Given the description of an element on the screen output the (x, y) to click on. 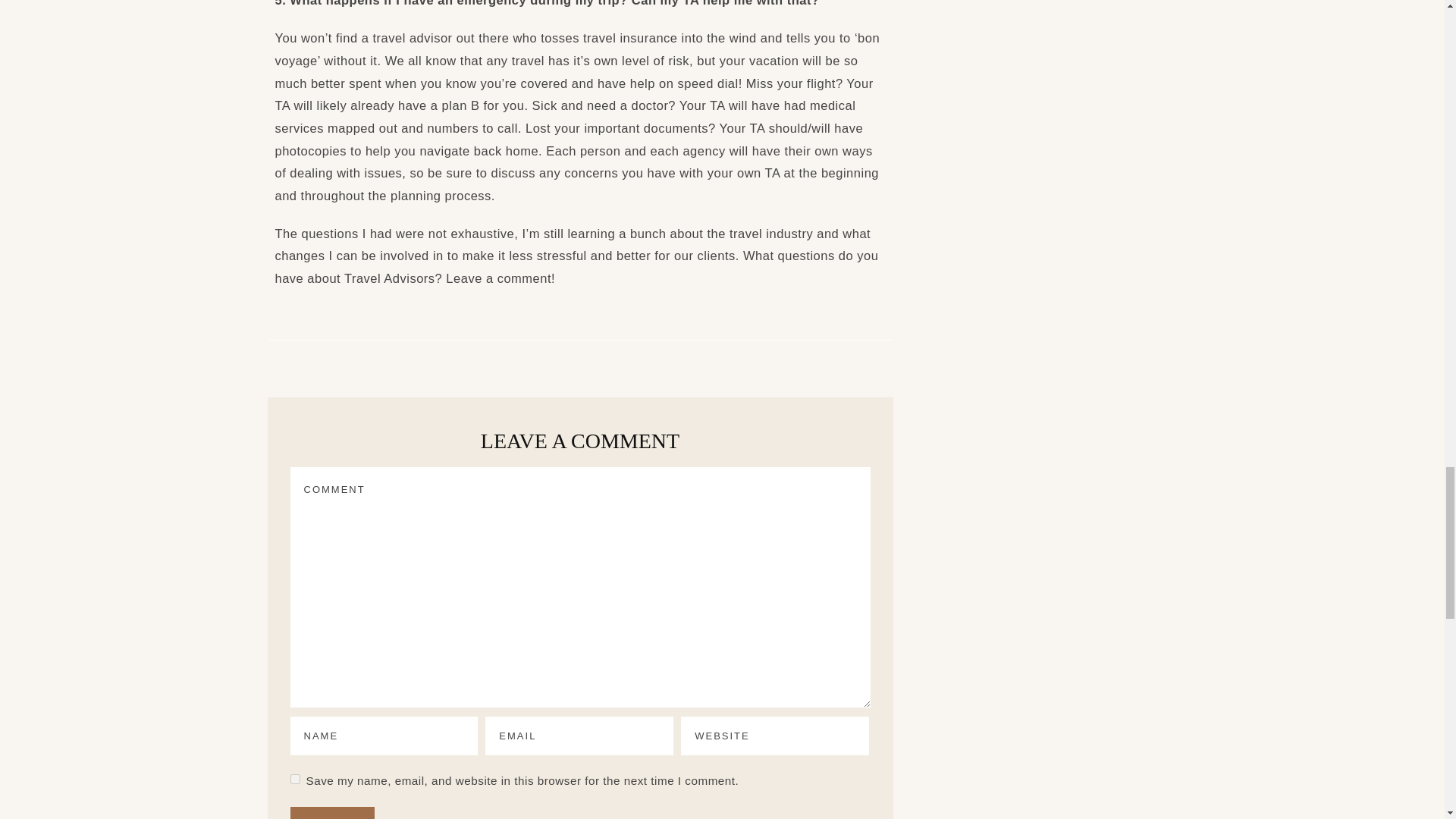
yes (294, 778)
Submit (331, 812)
Submit (331, 812)
